Given the description of an element on the screen output the (x, y) to click on. 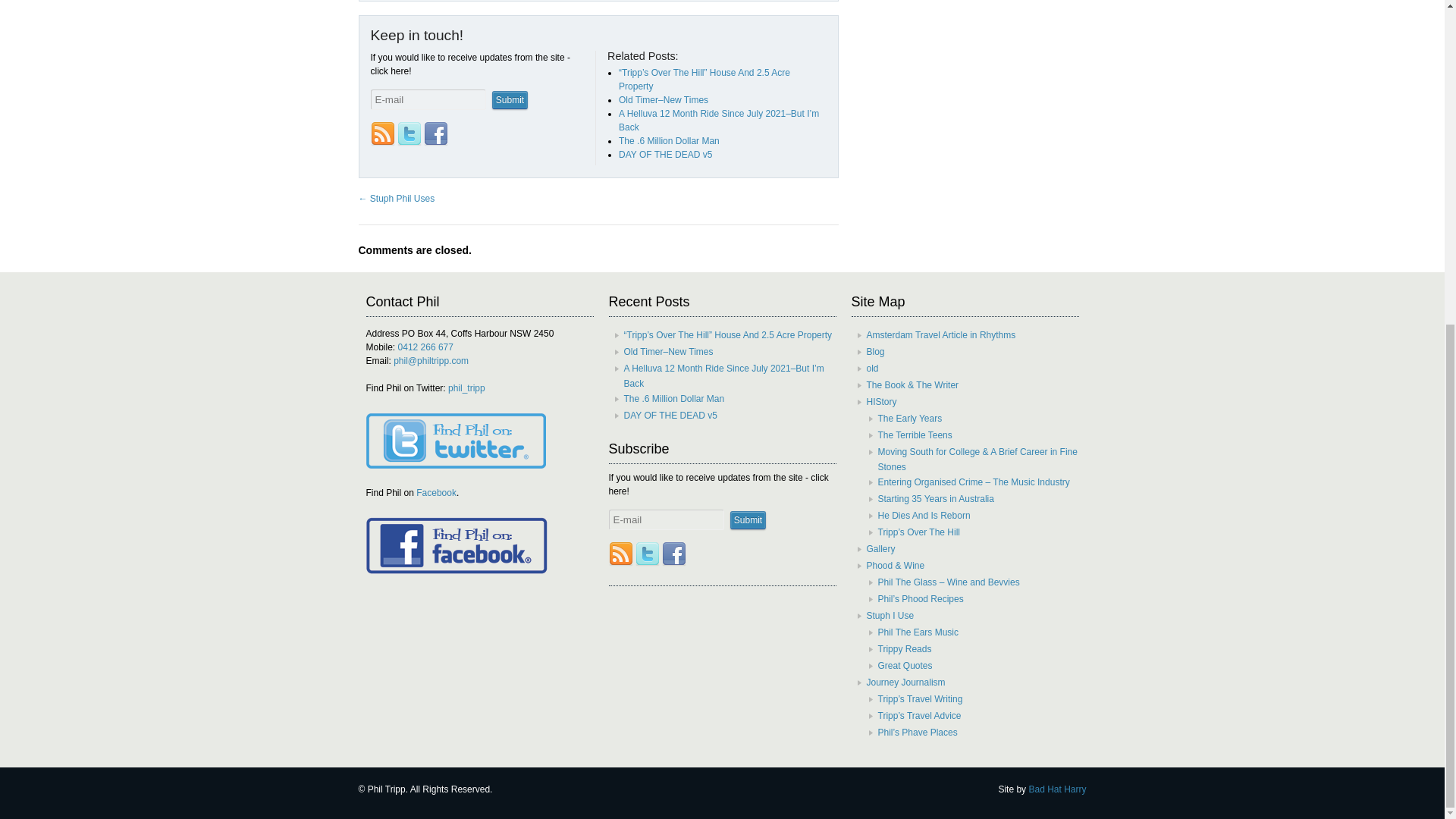
Subscribe to our RSS feed (619, 554)
E-mail (665, 519)
The .6 Million Dollar Man (668, 140)
Follow us on Twitter (646, 554)
Submit (509, 99)
Subscribe to our RSS feed (381, 134)
The .6 Million Dollar Man (668, 140)
Submit (509, 99)
Follow us on Twitter (409, 134)
Submit (747, 520)
